Given the description of an element on the screen output the (x, y) to click on. 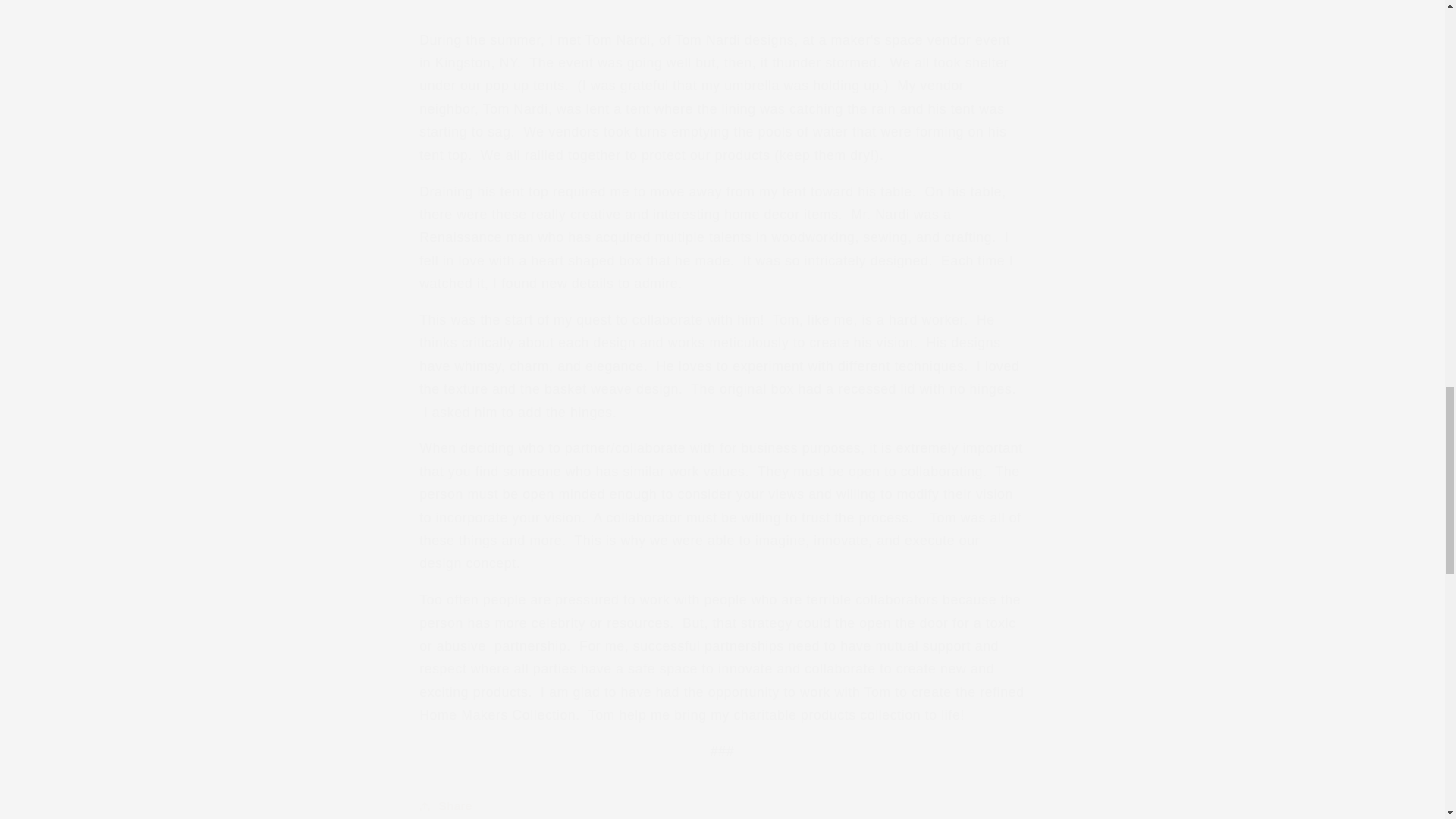
Share (722, 803)
